Given the description of an element on the screen output the (x, y) to click on. 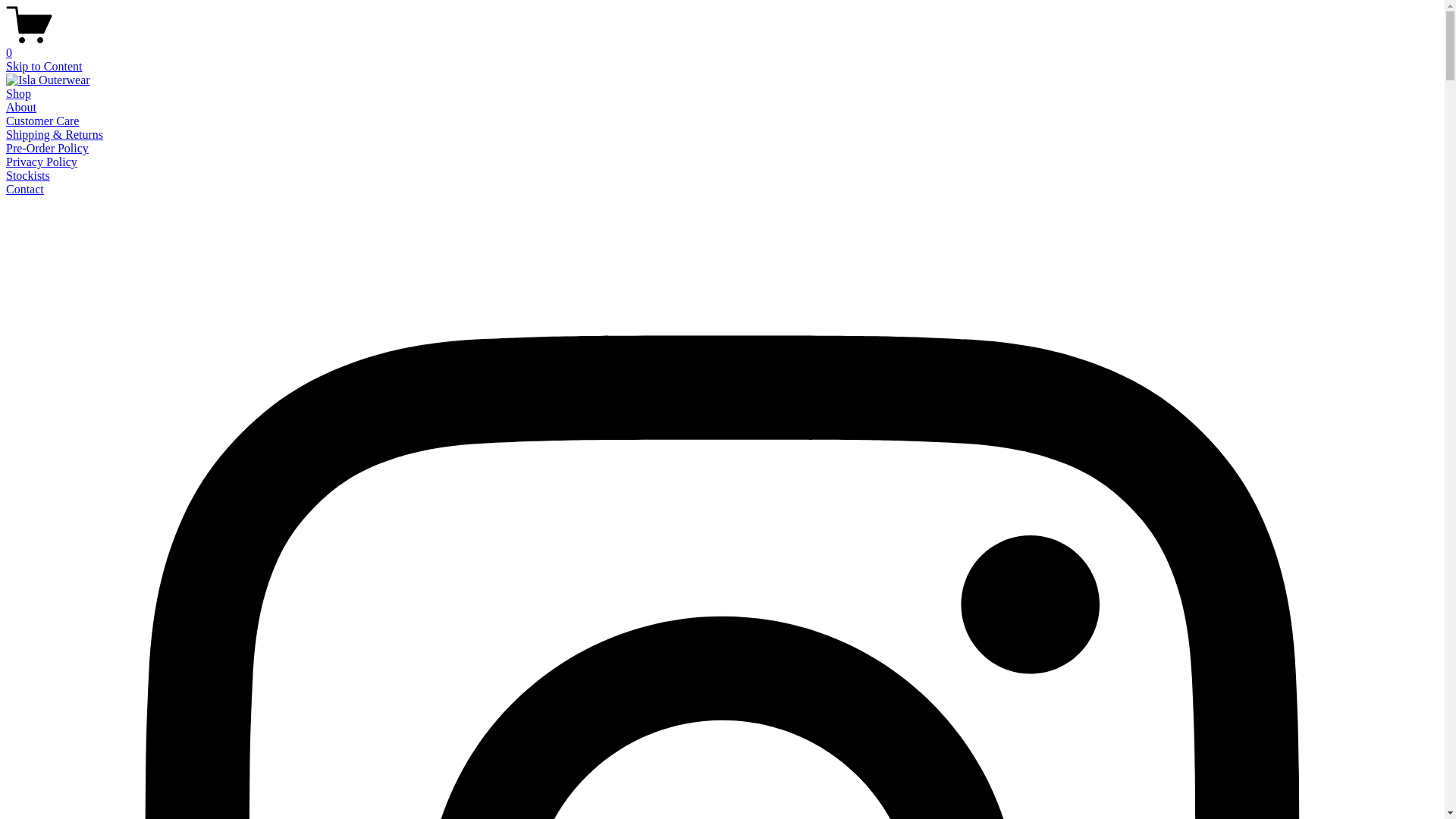
Stockists Element type: text (28, 175)
Pre-Order Policy Element type: text (47, 147)
Privacy Policy Element type: text (41, 161)
0 Element type: text (722, 45)
Skip to Content Element type: text (43, 65)
Shop Element type: text (18, 93)
About Element type: text (21, 106)
Contact Element type: text (24, 188)
Shipping & Returns Element type: text (54, 134)
Customer Care Element type: text (42, 120)
